Given the description of an element on the screen output the (x, y) to click on. 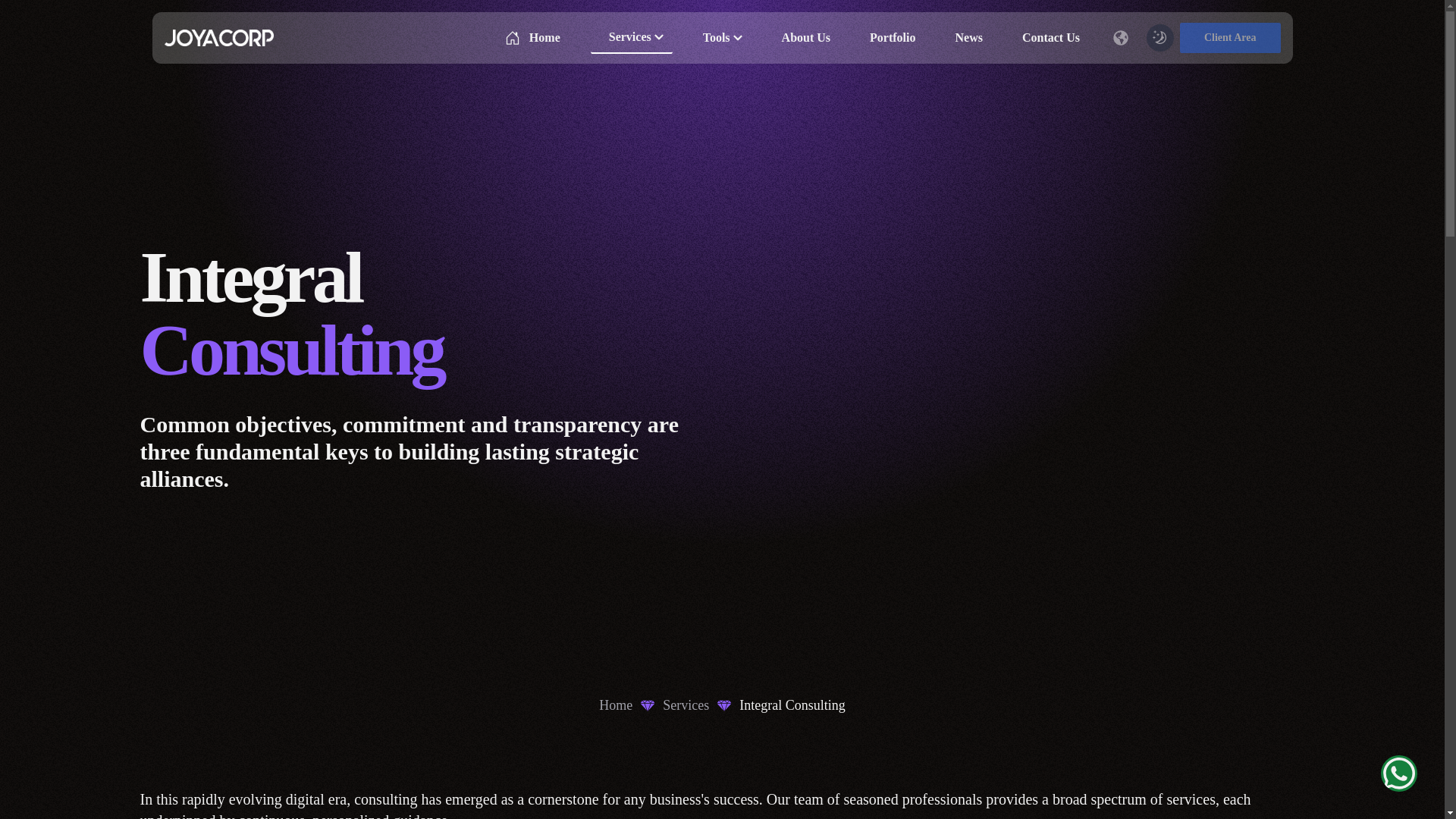
Tools  (717, 37)
News (963, 37)
Portfolio (887, 37)
About Us (801, 37)
Toggle theme (1160, 37)
Home (614, 704)
Services  (631, 38)
Client Area (1230, 37)
Services (685, 704)
Contact Us (1046, 37)
Home (532, 37)
